Given the description of an element on the screen output the (x, y) to click on. 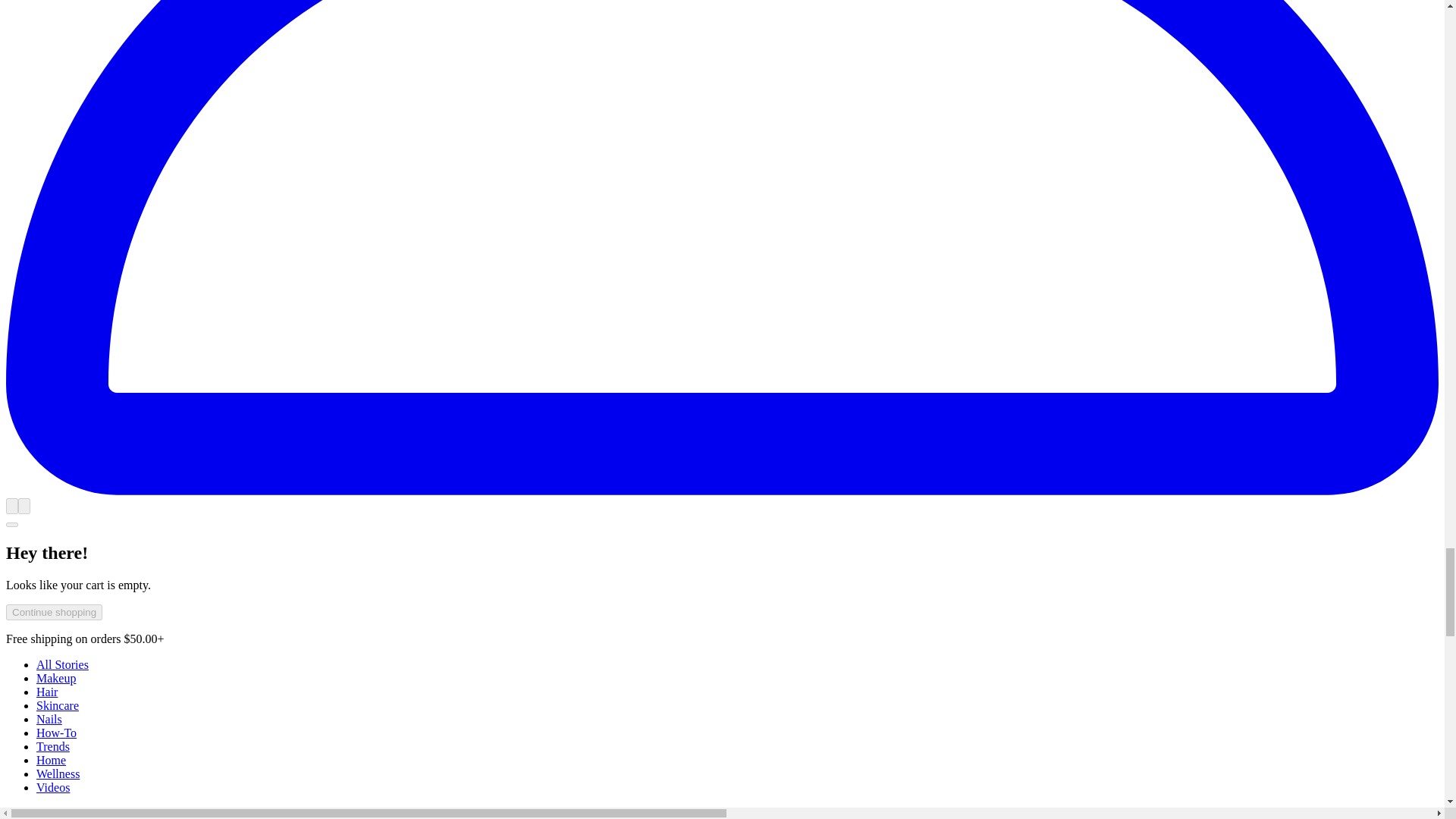
Wellness (58, 773)
Hair (47, 691)
Makeup (55, 677)
Skincare (57, 705)
Nails (49, 718)
Videos (52, 787)
All Stories (62, 664)
Continue shopping (53, 611)
How-To (56, 732)
Trends (52, 746)
Home (50, 759)
